Given the description of an element on the screen output the (x, y) to click on. 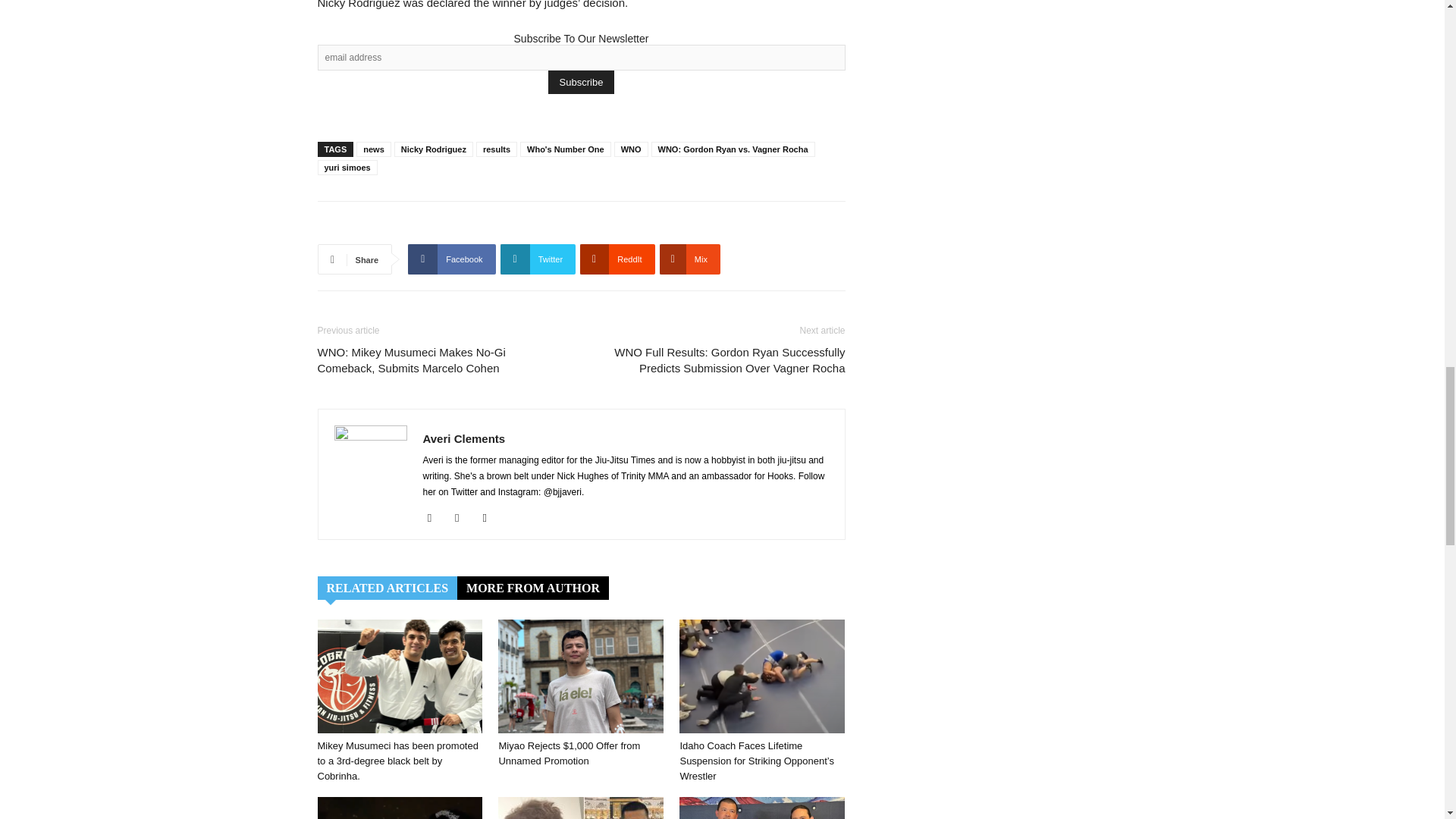
WNO: Gordon Ryan vs. Vagner Rocha (732, 149)
WNO (630, 149)
yuri simoes (347, 167)
Subscribe (581, 82)
news (373, 149)
Who's Number One (565, 149)
Subscribe (581, 82)
results (496, 149)
Nicky Rodriguez (433, 149)
